Given the description of an element on the screen output the (x, y) to click on. 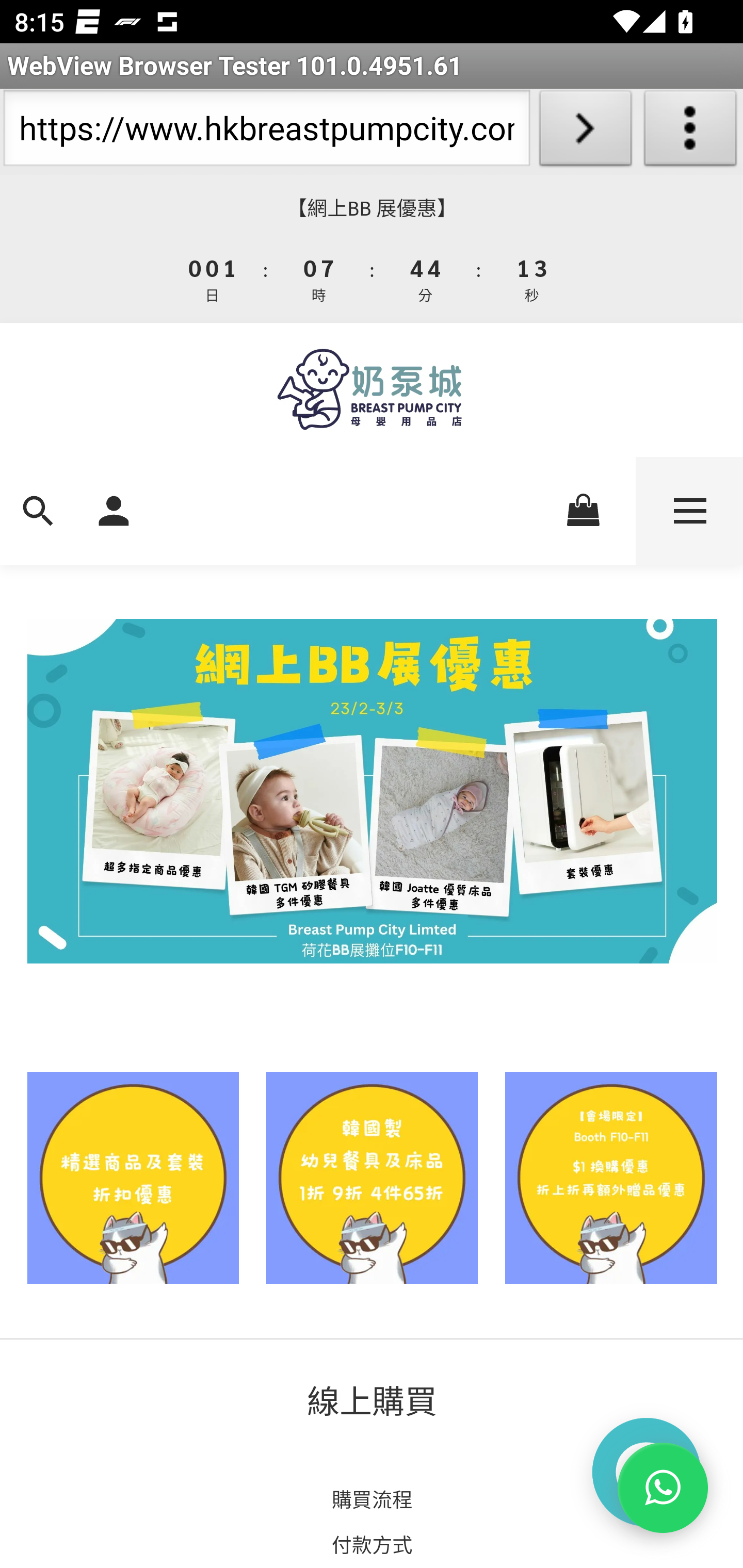
Load URL (585, 132)
About WebView (690, 132)
【網上BB 展優惠】 (371, 208)
3 2 1 0 3 2 1 0 4 3 2 1 0 日 (213, 277)
3 2 1 0 9 8 7 6 5 4 3 2 1 0 時 (318, 277)
7 6 5 4 3 2 1 0 7 6 5 4 3 2 1 0 分 (425, 277)
4 3 2 1 0 6 5 4 3 2 1 0 秒 (530, 277)
594x (371, 389)
sign_in (113, 511)
65d770b61e31ed001184a325?draft=true&debug=true (371, 1177)
線上購買 (372, 1400)
購買流程 (371, 1499)
付款方式 (371, 1543)
